Given the description of an element on the screen output the (x, y) to click on. 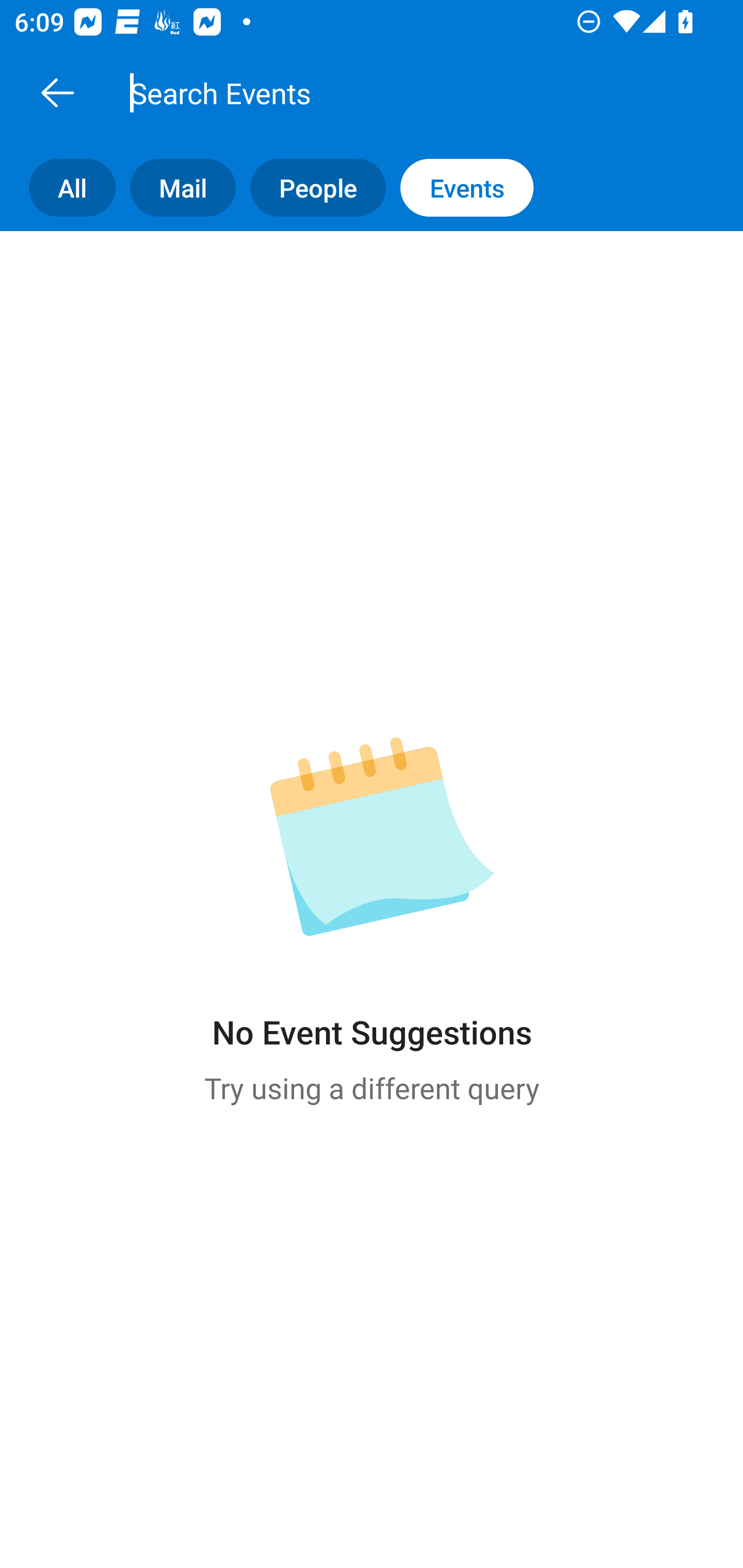
Back (57, 92)
Search Events (394, 92)
All (57, 187)
Mail (175, 187)
People (310, 187)
